Given the description of an element on the screen output the (x, y) to click on. 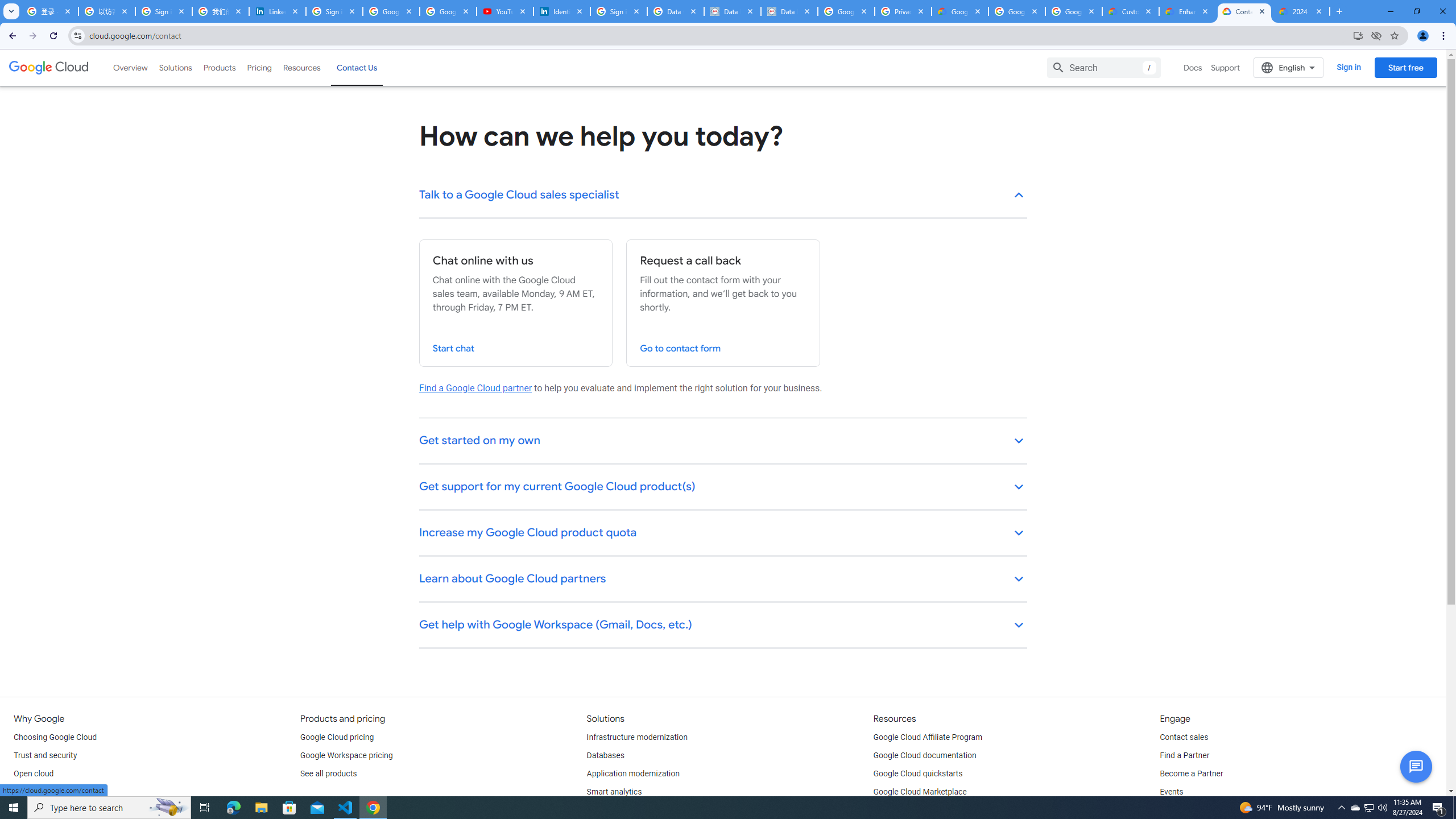
Contact Us (356, 67)
Sign in - Google Accounts (618, 11)
Trust and security (45, 755)
Docs (1192, 67)
LinkedIn Privacy Policy (277, 11)
Pricing (259, 67)
Google Cloud documentation (924, 755)
Google Workspace pricing (346, 755)
